Given the description of an element on the screen output the (x, y) to click on. 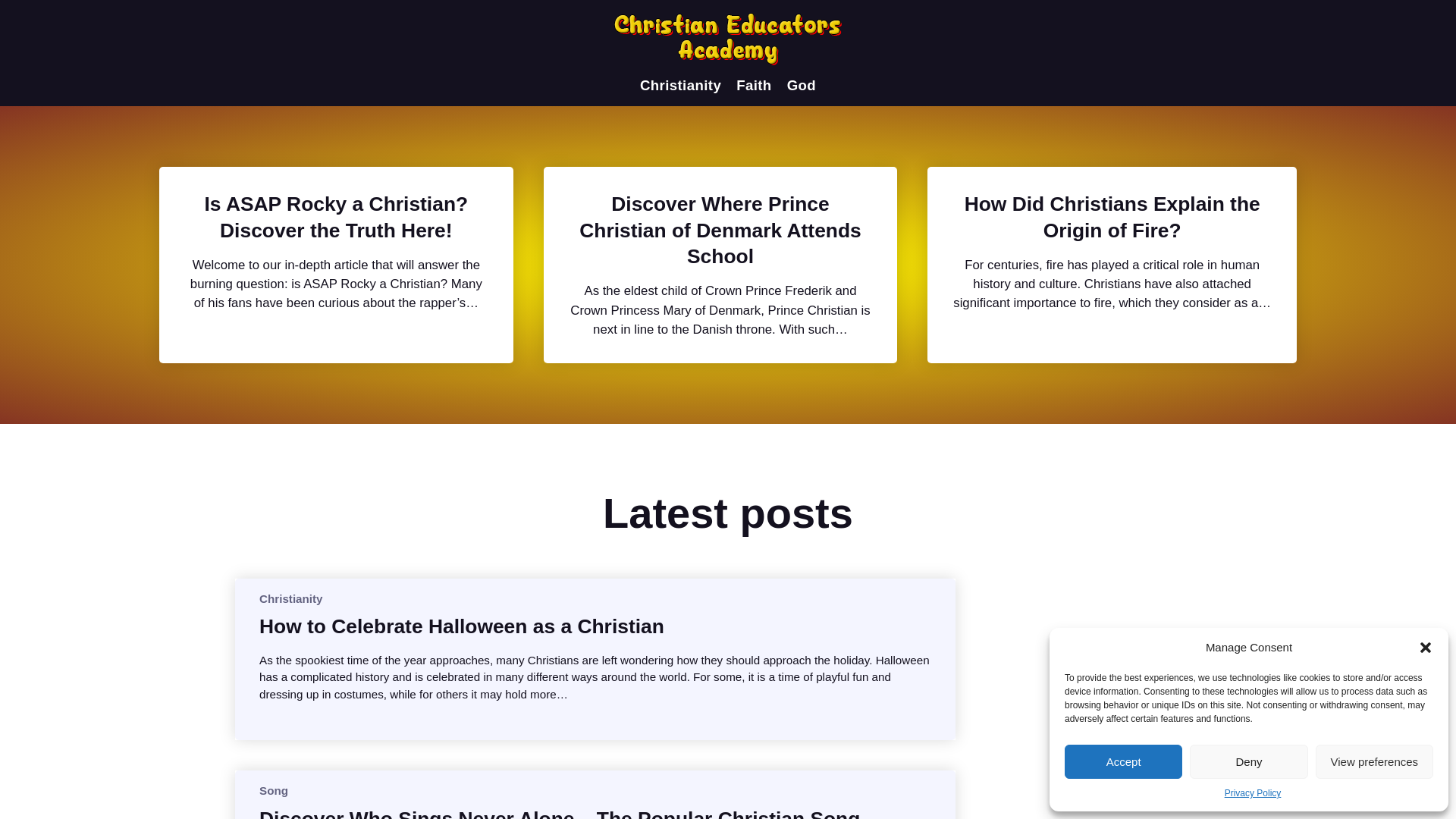
Song (273, 789)
View preferences (1374, 761)
Is ASAP Rocky a Christian? Discover the Truth Here! (336, 216)
How Did Christians Explain the Origin of Fire? (1112, 216)
God (801, 85)
Faith (753, 85)
Christianity (680, 85)
Accept (1123, 761)
Christianity (291, 597)
Deny (1248, 761)
